Given the description of an element on the screen output the (x, y) to click on. 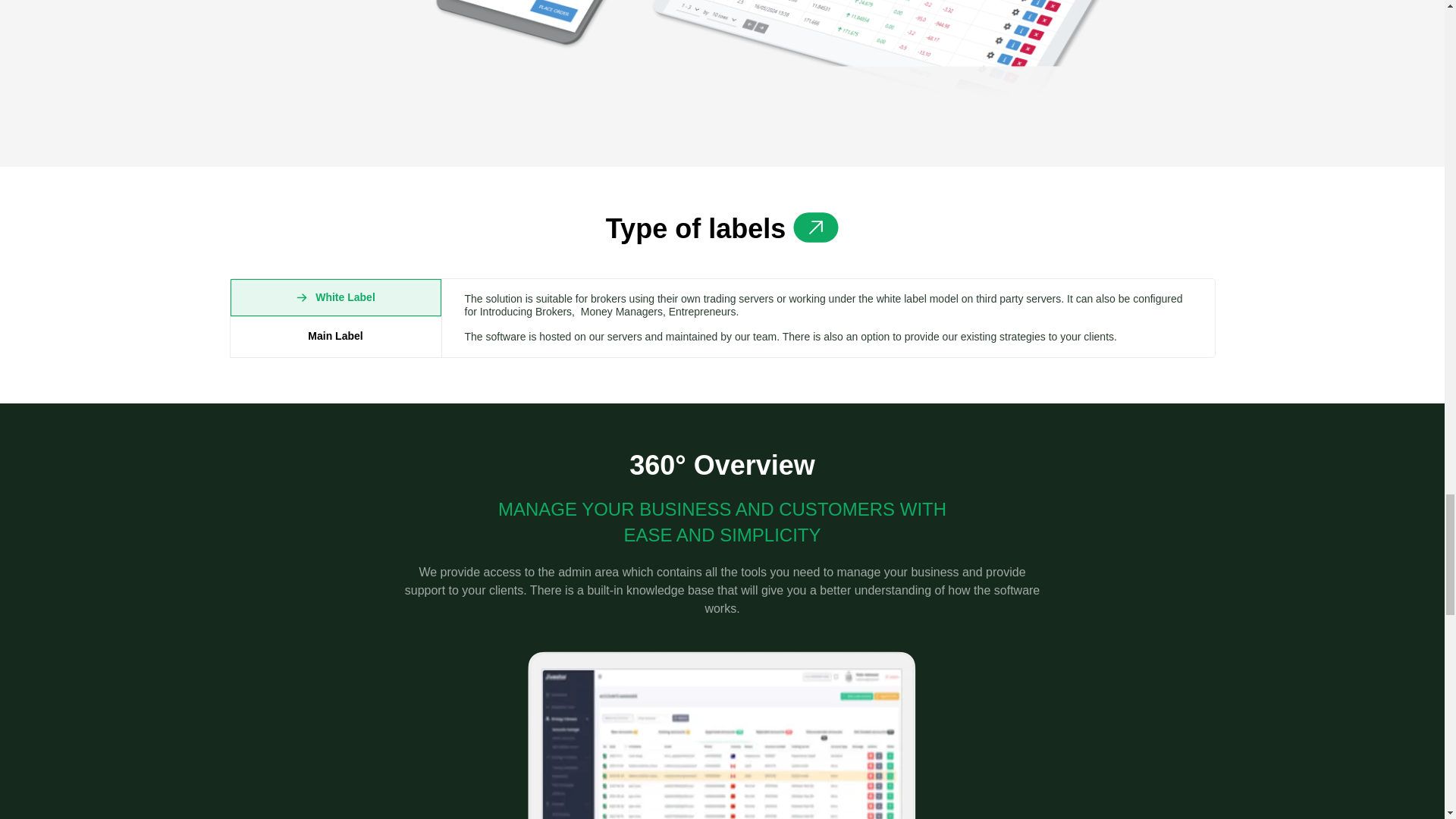
White Label (335, 297)
Main Label (335, 335)
